Given the description of an element on the screen output the (x, y) to click on. 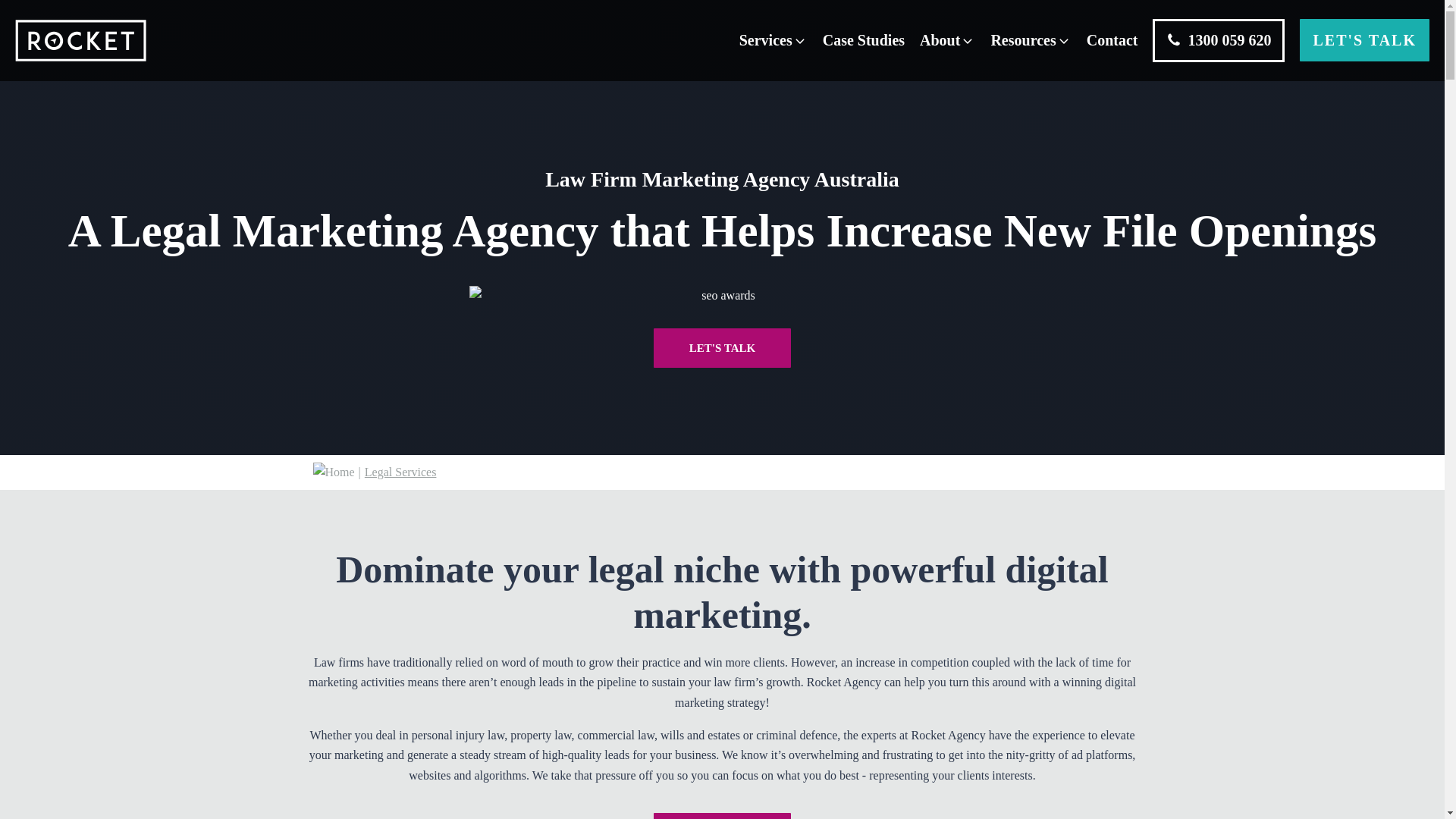
Services (773, 40)
